Given the description of an element on the screen output the (x, y) to click on. 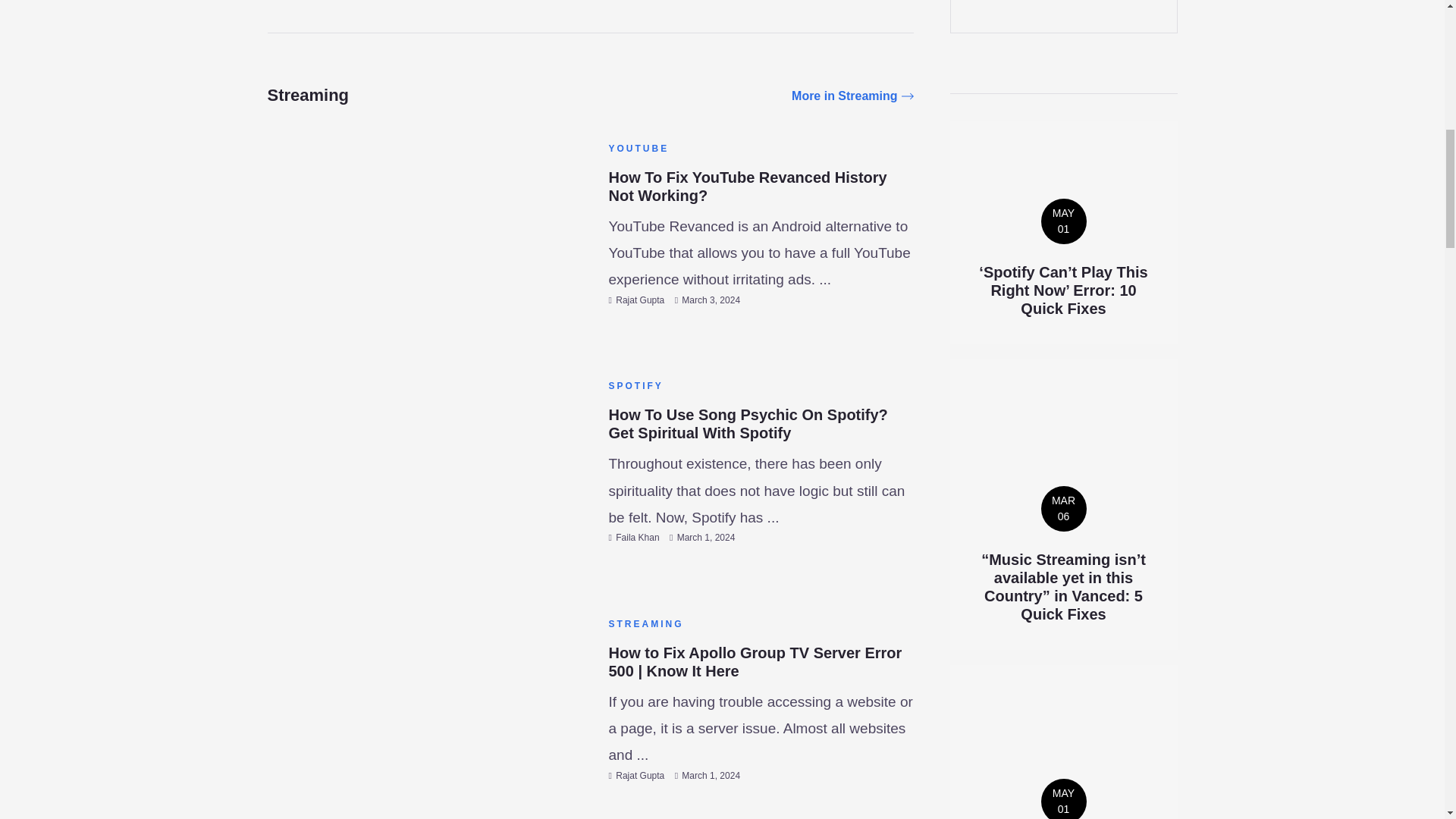
Posts by Rajat Gupta (639, 299)
Posts by Rajat Gupta (639, 775)
Posts by Faila Khan (637, 537)
